Given the description of an element on the screen output the (x, y) to click on. 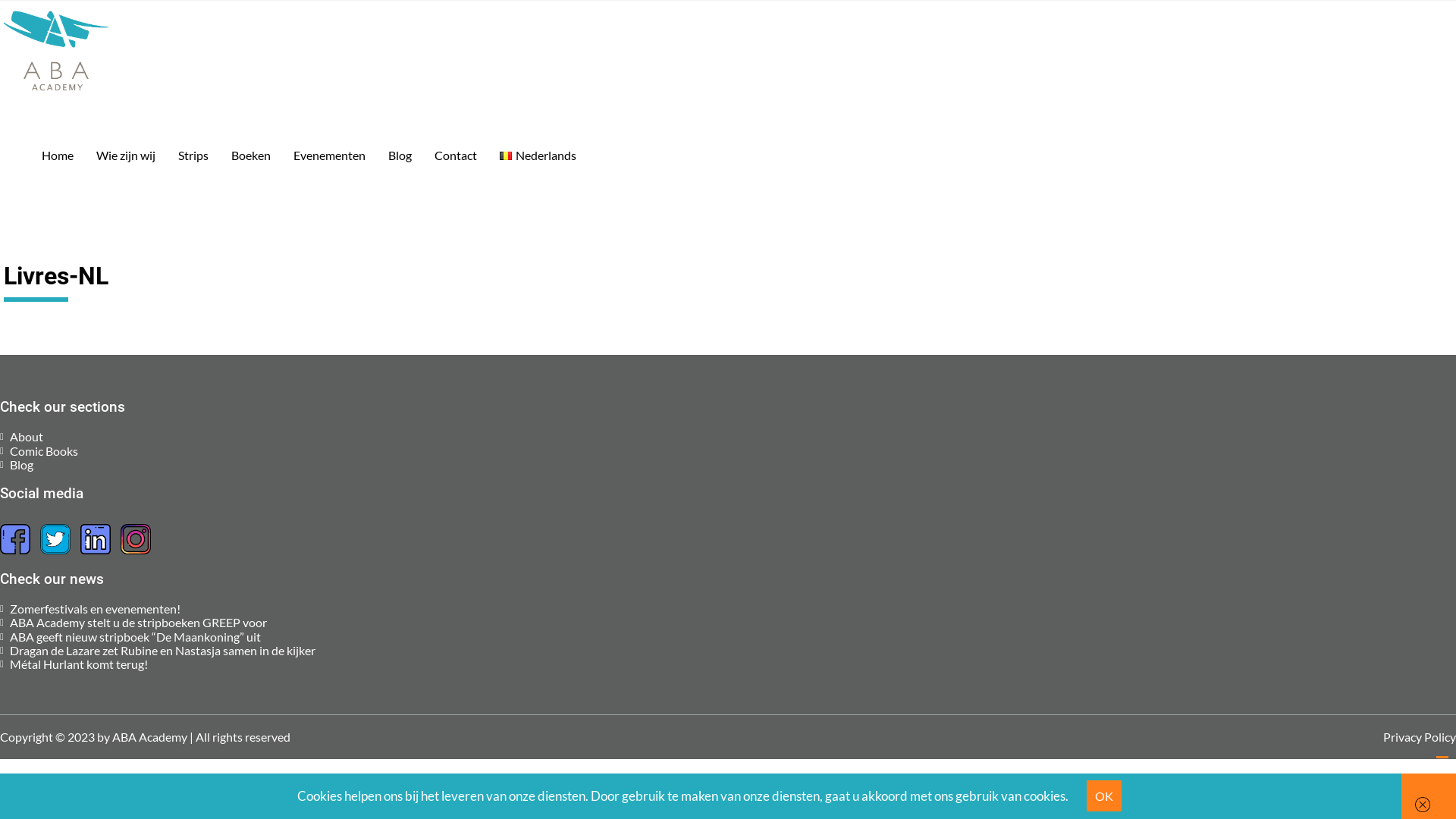
Home Element type: text (57, 154)
Zomerfestivals en evenementen! Element type: text (94, 608)
Blog Element type: text (21, 464)
About Element type: text (26, 436)
Strips Element type: text (192, 154)
Blog Element type: text (399, 154)
Wie zijn wij Element type: text (125, 154)
OK Element type: text (1102, 795)
ABA Academy stelt u de stripboeken GREEP voor Element type: text (137, 622)
Contact Element type: text (455, 154)
Nederlands Element type: text (537, 154)
Evenementen Element type: text (329, 154)
Comic Books Element type: text (43, 450)
Dragan de Lazare zet Rubine en Nastasja samen in de kijker Element type: text (162, 650)
ABA Academy Element type: text (37, 117)
Boeken Element type: text (250, 154)
